Given the description of an element on the screen output the (x, y) to click on. 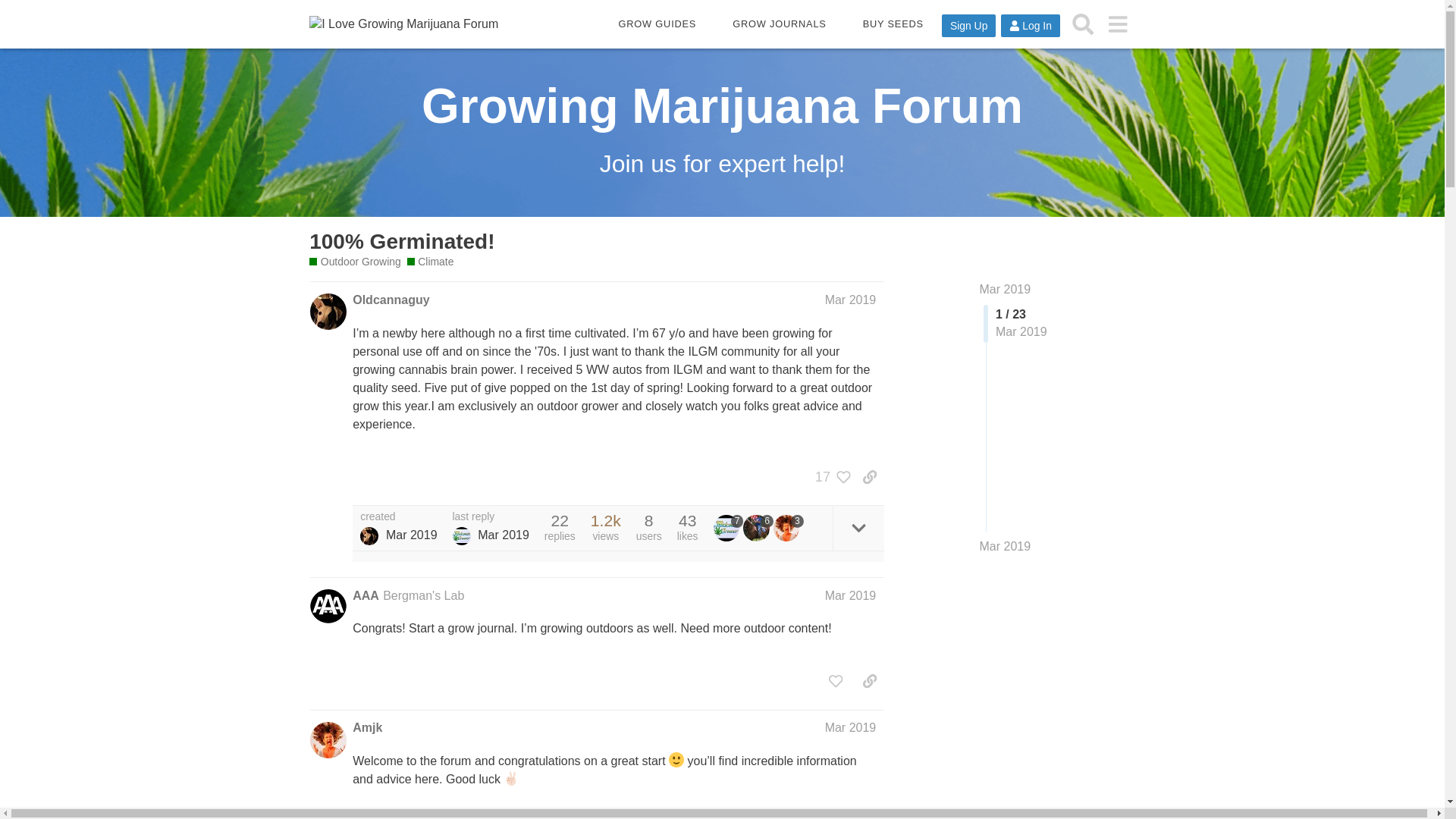
Search (1082, 23)
6 (757, 527)
GROW JOURNALS (778, 24)
Oldcannaguy (390, 299)
Outdoor Growing (354, 261)
Climate (430, 261)
Amjk (366, 727)
Mar 21, 2019 9:51 pm (411, 534)
Mar 2019 (1004, 288)
GROW JOURNALS (778, 24)
3 (788, 527)
copy a link to this post to clipboard (869, 476)
17 people liked this post (829, 476)
7 (728, 527)
Mar 2019 (850, 727)
